Given the description of an element on the screen output the (x, y) to click on. 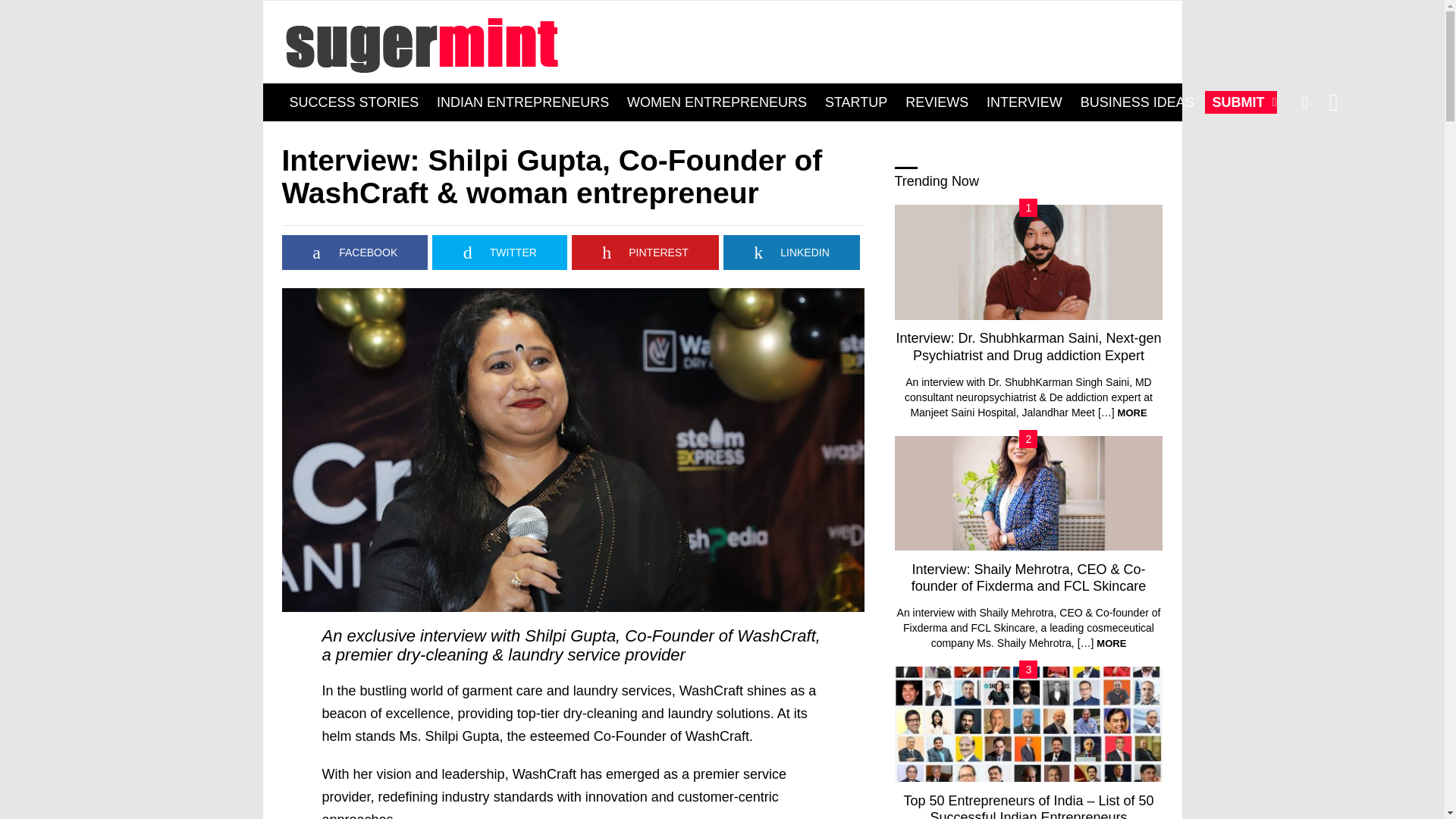
WOMEN ENTREPRENEURS (716, 101)
Follow us (1333, 102)
SEARCH (1304, 101)
FACEBOOK (355, 252)
SUCCESS STORIES (354, 101)
PINTEREST (645, 252)
BUSINESS IDEAS (1137, 101)
FOLLOW US (1333, 102)
INTERVIEW (1024, 101)
LINKEDIN (791, 252)
INDIAN ENTREPRENEURS (522, 101)
SUBMIT (1240, 101)
STARTUP (855, 101)
REVIEWS (936, 101)
TWITTER (499, 252)
